Given the description of an element on the screen output the (x, y) to click on. 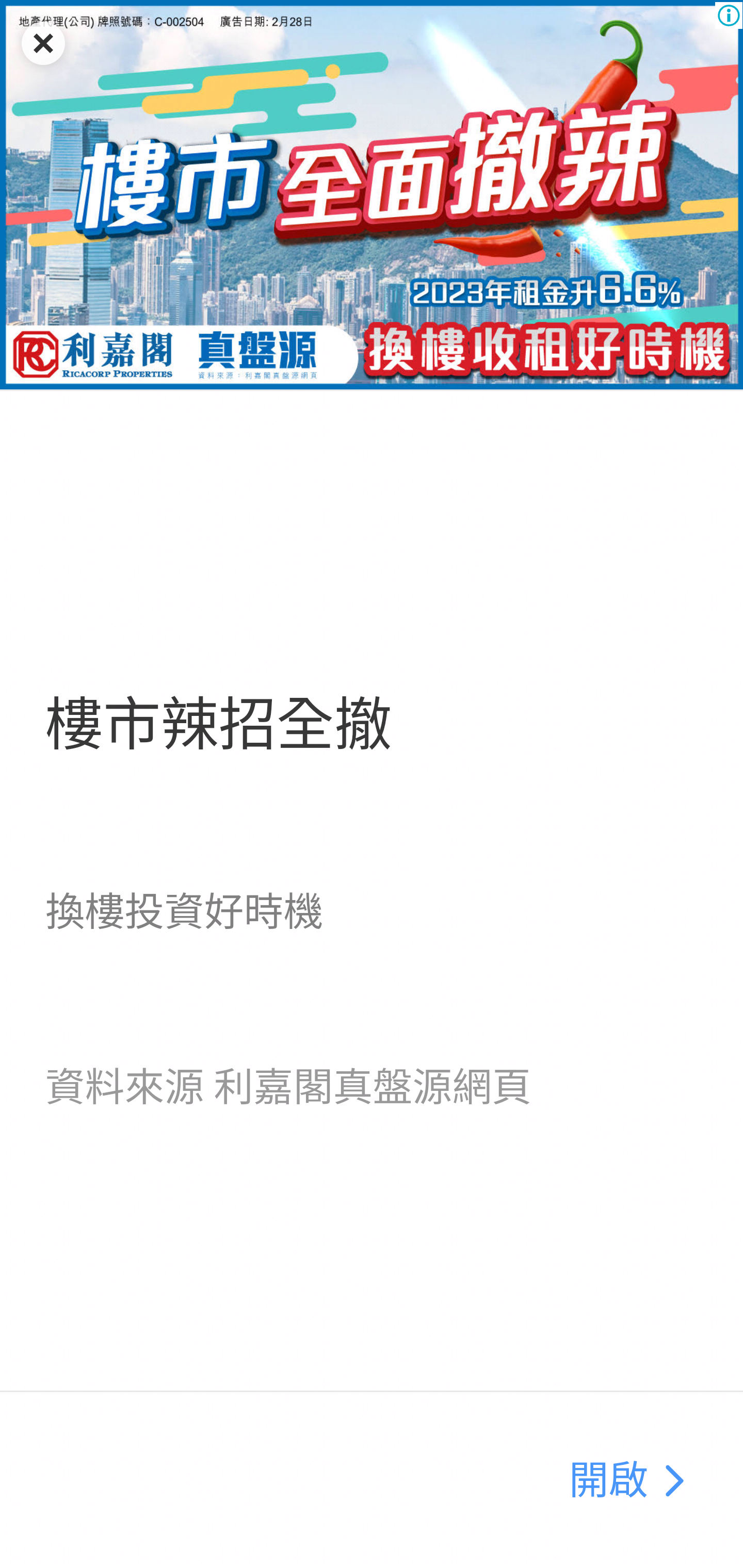
B31476451 (371, 195)
樓市辣招全撤 (218, 724)
換樓投資好時機 (184, 911)
資料來源 利嘉閣真盤源網頁 (287, 1087)
B31476451 (673, 1480)
開啟 (608, 1480)
